Given the description of an element on the screen output the (x, y) to click on. 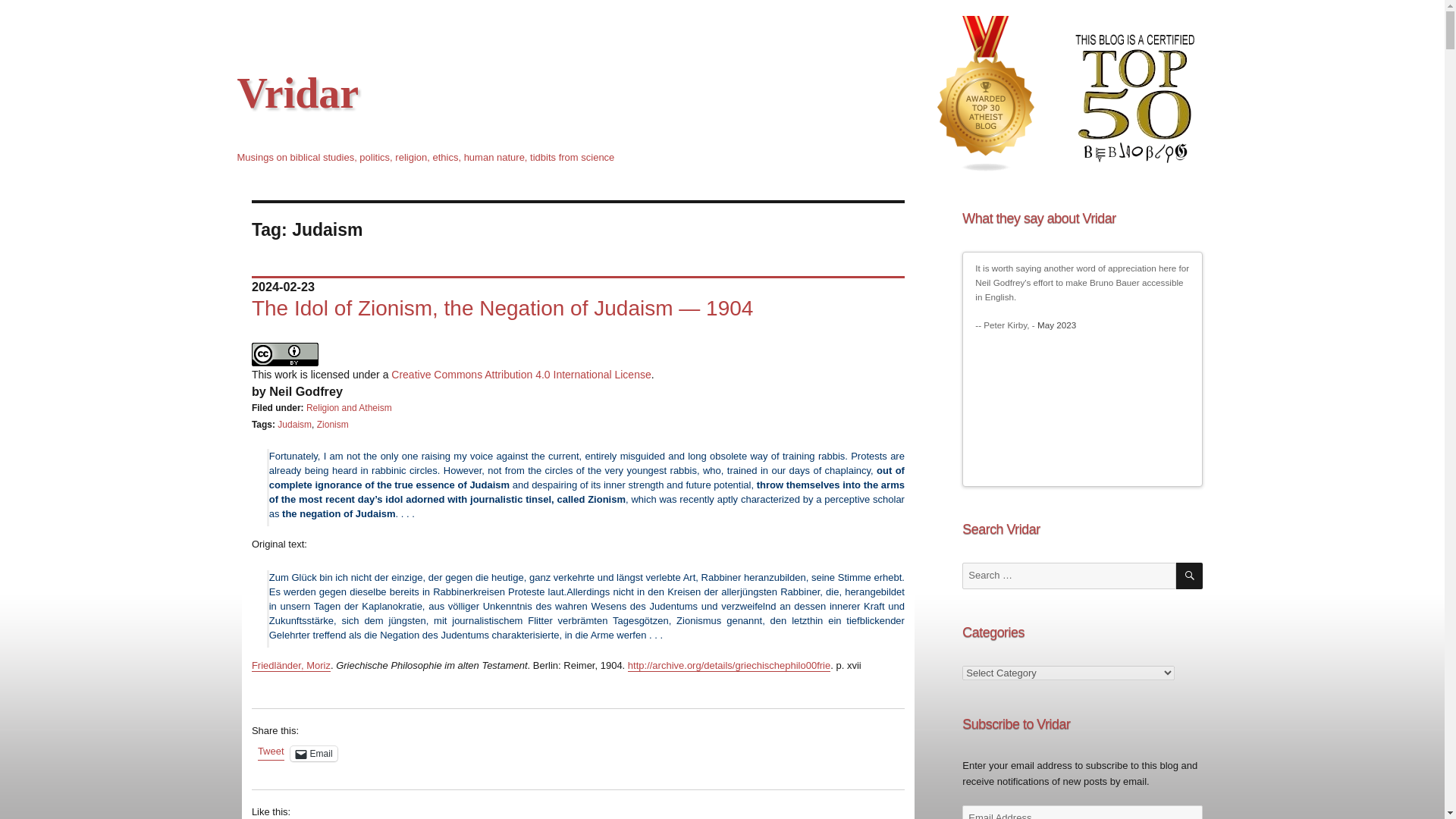
Tweet (270, 753)
Judaism (294, 424)
Creative Commons Attribution 4.0 International License (520, 374)
Zionism (333, 424)
Click to email a link to a friend (313, 753)
Religion and Atheism (348, 407)
Email (313, 753)
Vridar (296, 93)
